Given the description of an element on the screen output the (x, y) to click on. 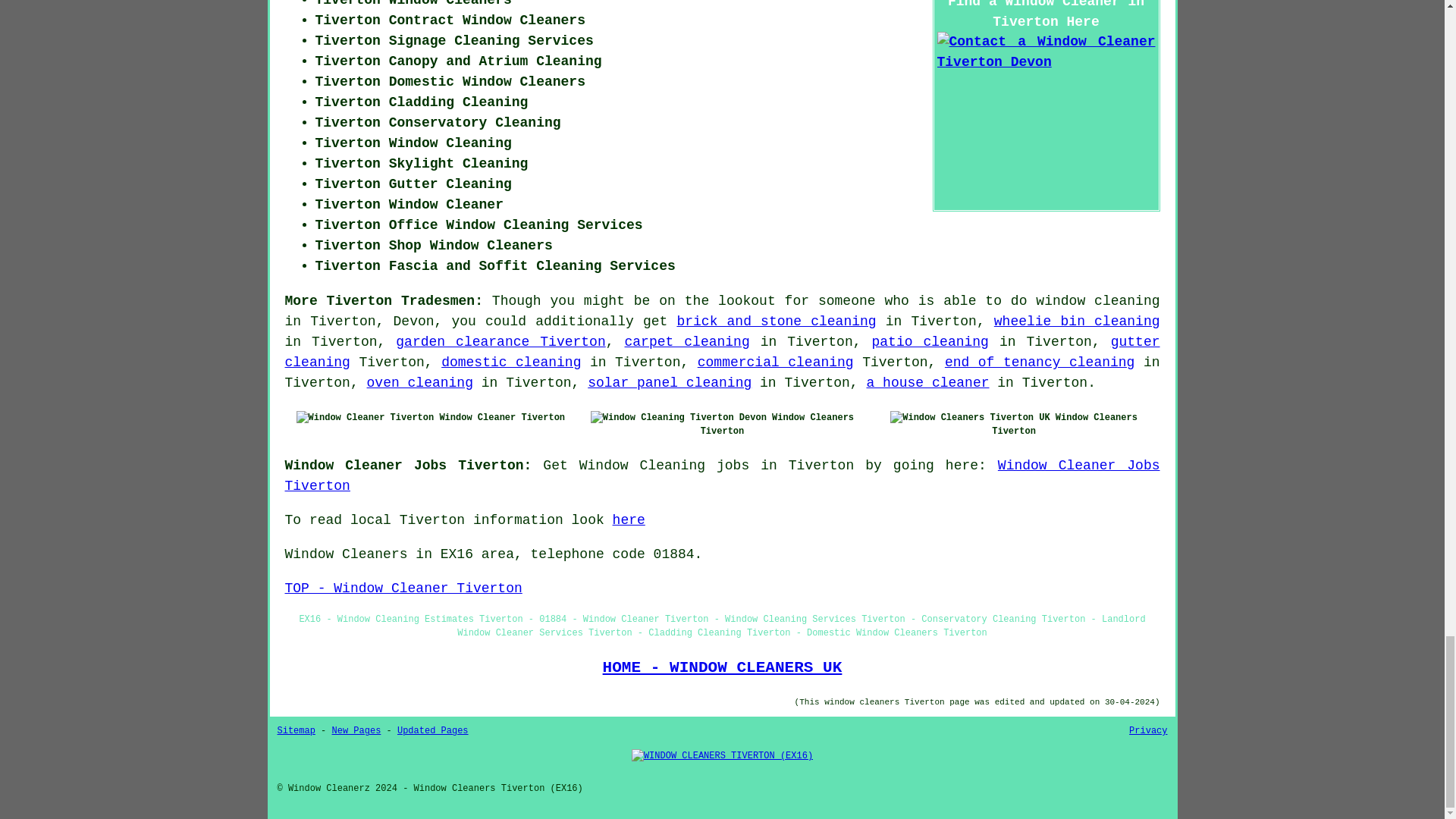
Window Cleaners Tiverton UK (969, 418)
Window Cleaning Tiverton Devon (679, 418)
Window Cleaner Tiverton (365, 418)
